Given the description of an element on the screen output the (x, y) to click on. 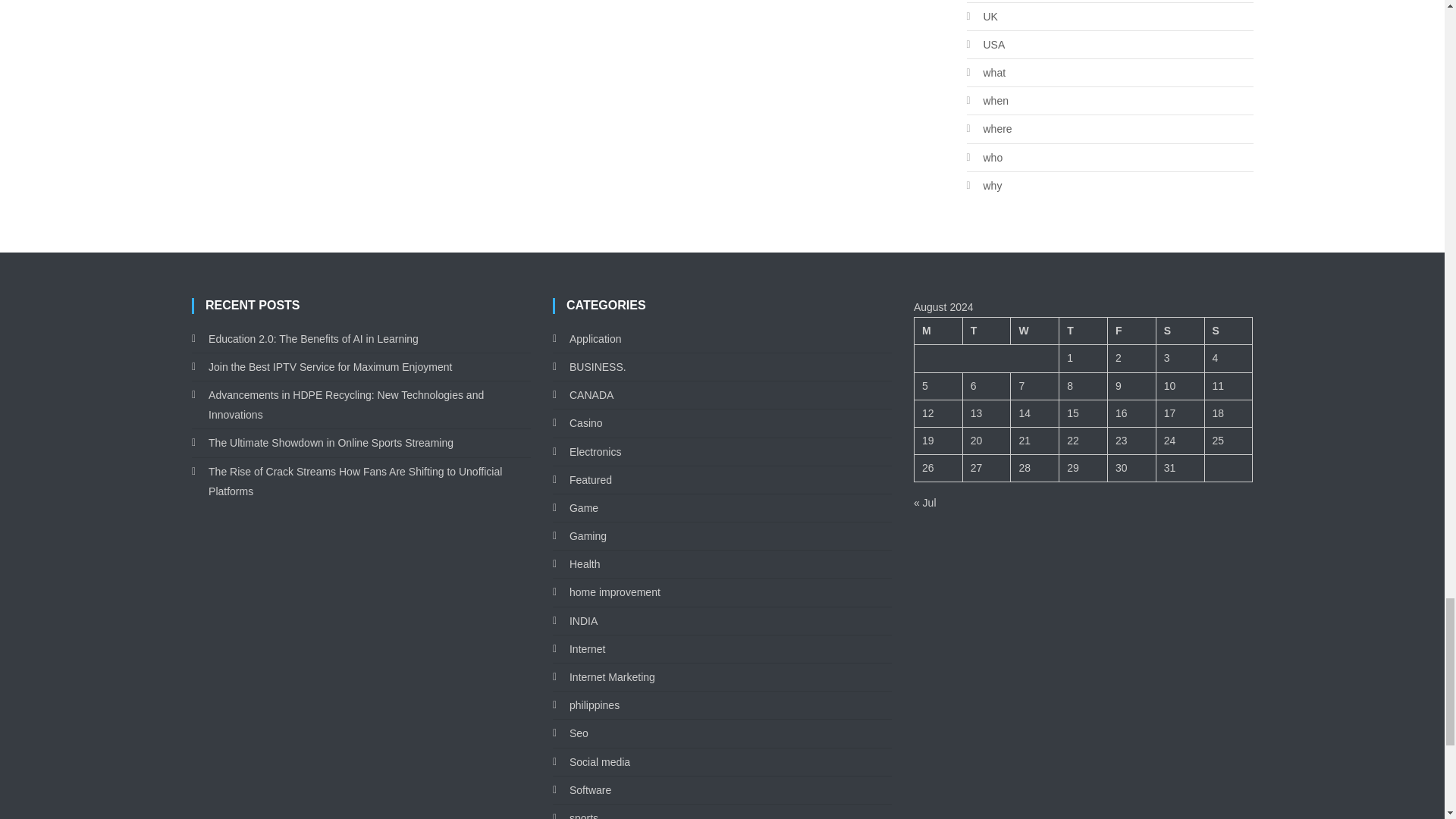
Saturday (1180, 330)
Tuesday (986, 330)
Monday (938, 330)
Wednesday (1034, 330)
Friday (1131, 330)
Sunday (1228, 330)
Thursday (1083, 330)
